Given the description of an element on the screen output the (x, y) to click on. 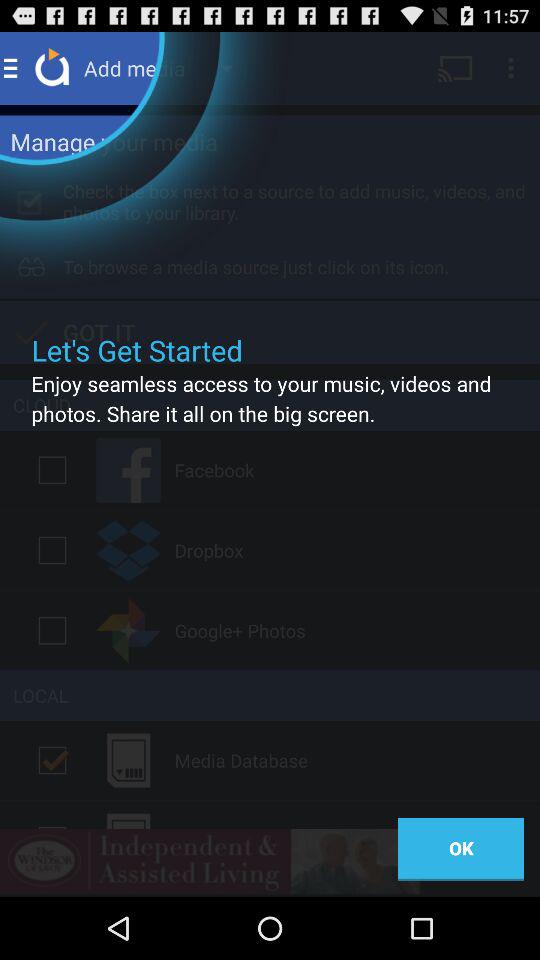
facebook option (52, 469)
